Given the description of an element on the screen output the (x, y) to click on. 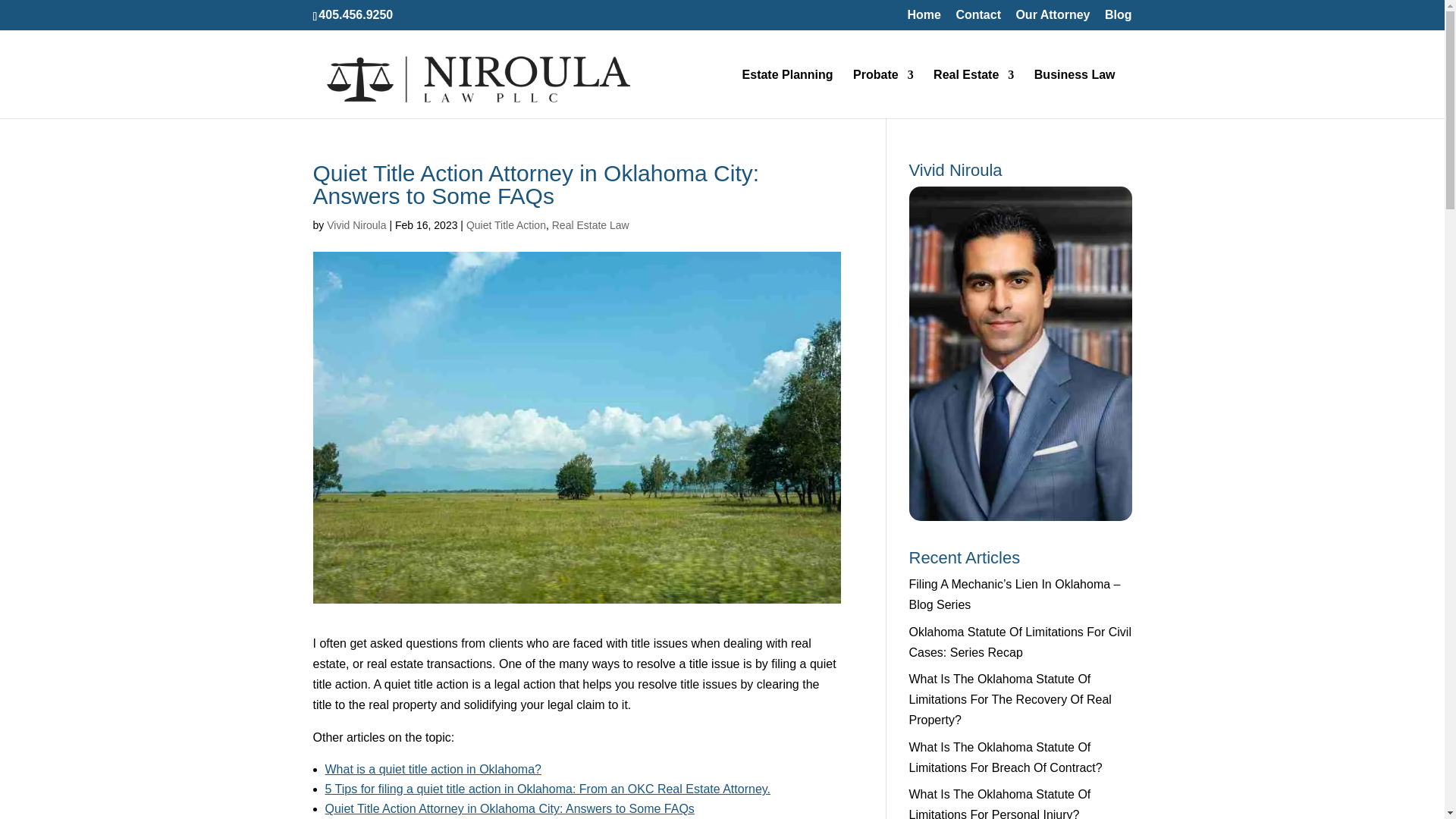
Contact (978, 19)
Real Estate Law (589, 224)
Probate (883, 93)
Blog (1118, 19)
Real Estate (973, 93)
Home (923, 19)
Vivid Niroula (355, 224)
Our Attorney (1051, 19)
Estate Planning (787, 93)
